Given the description of an element on the screen output the (x, y) to click on. 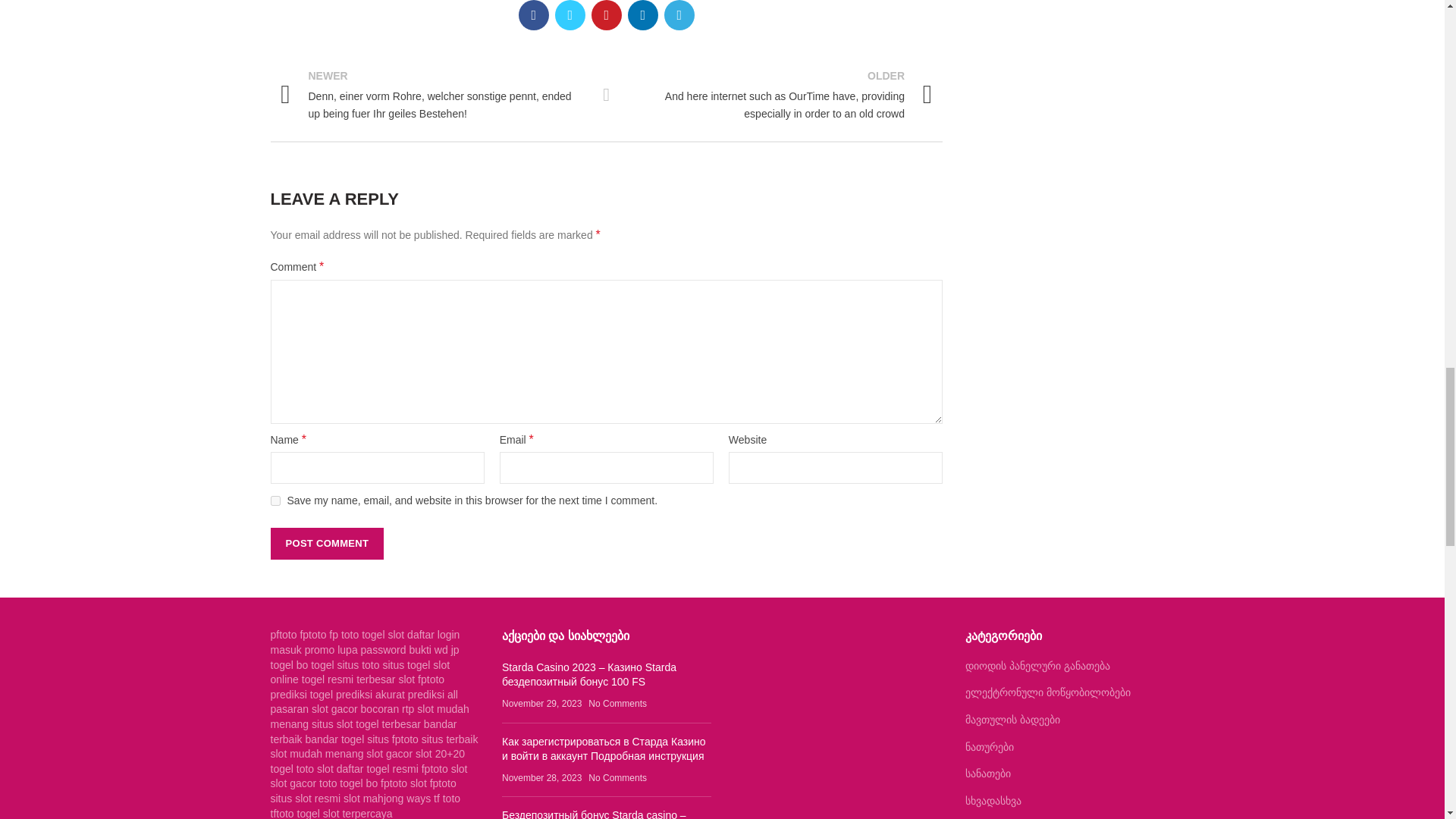
yes (274, 501)
Post Comment (326, 543)
